Given the description of an element on the screen output the (x, y) to click on. 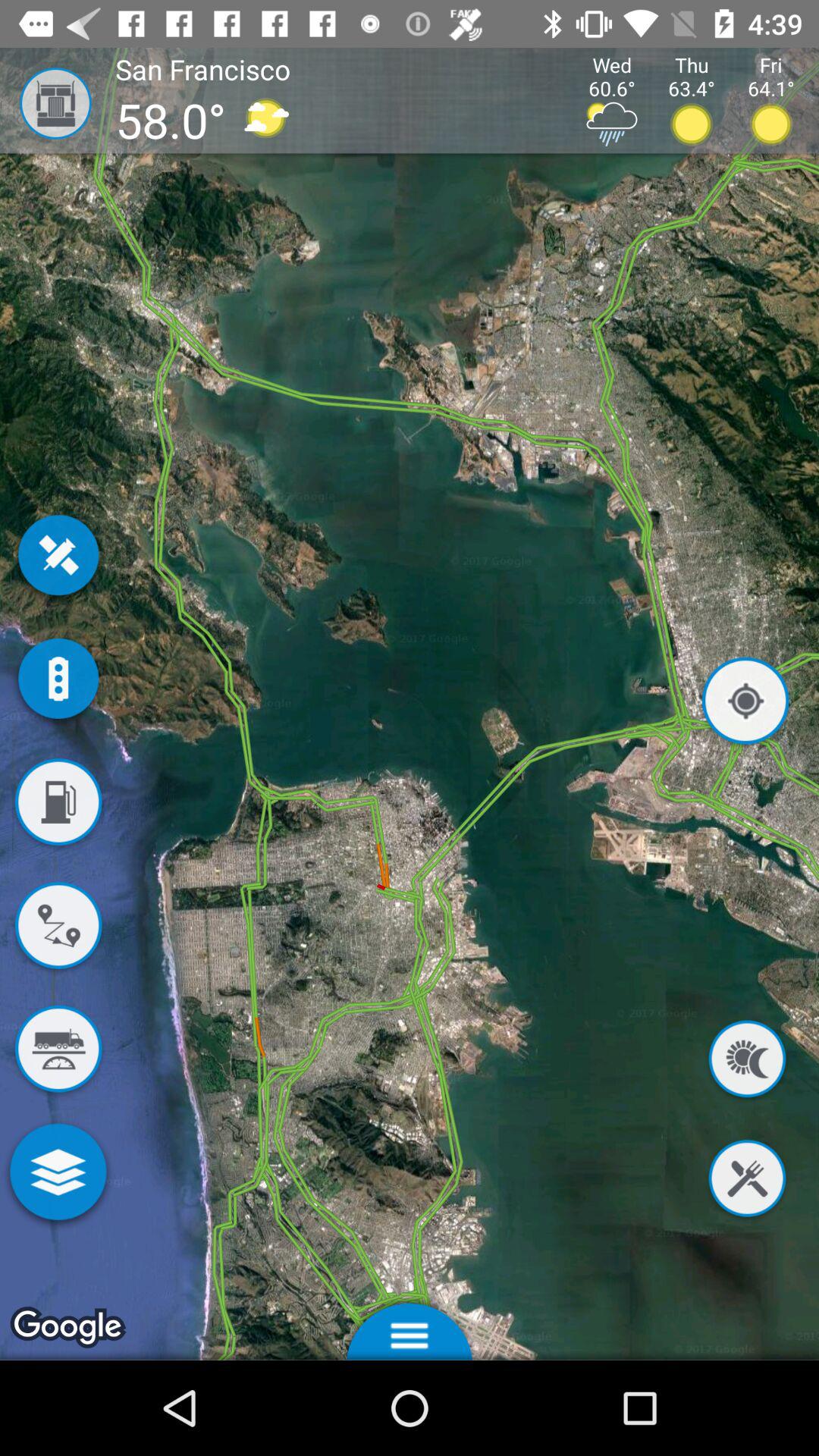
view options (409, 1326)
